Given the description of an element on the screen output the (x, y) to click on. 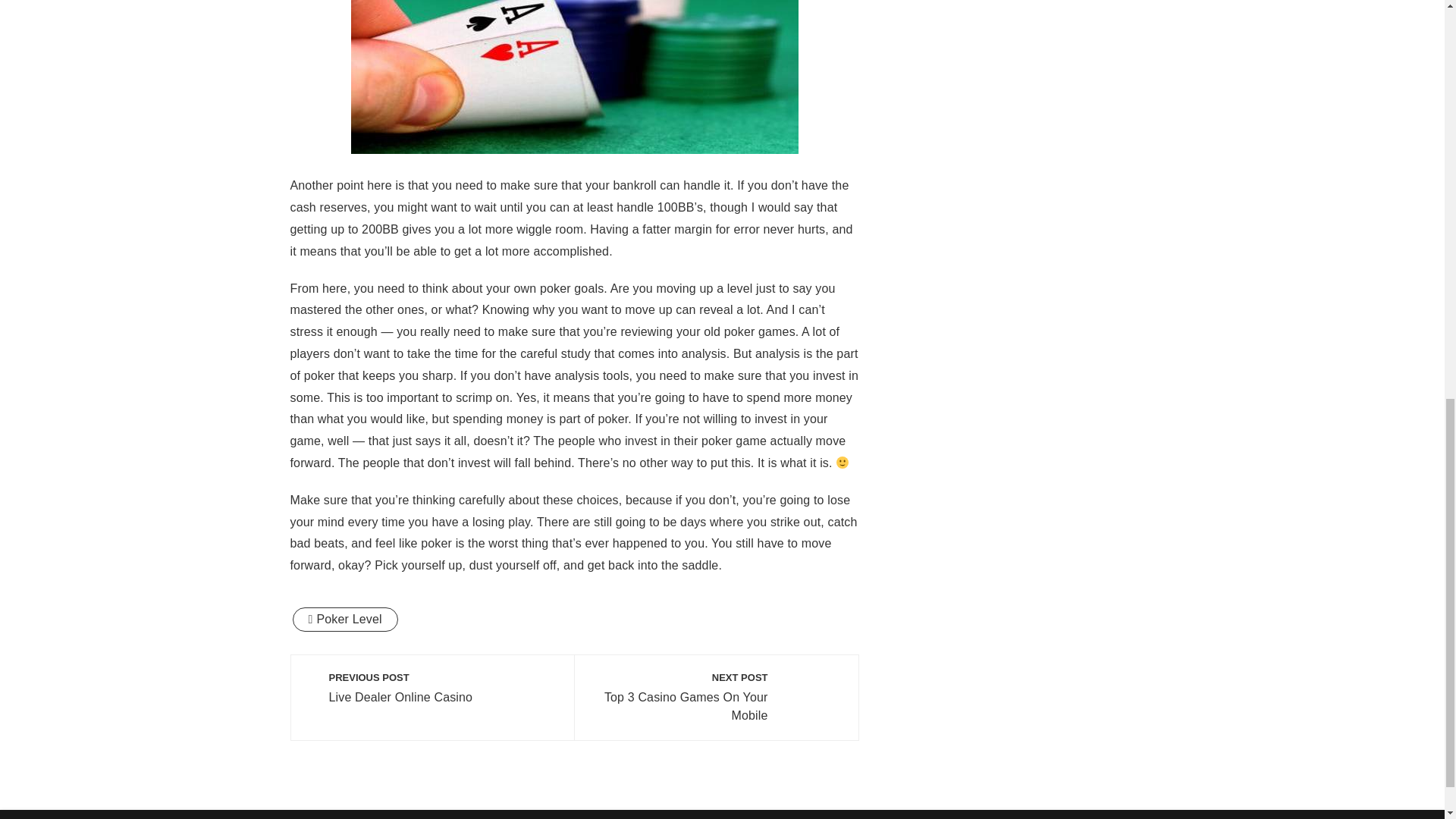
Poker Level (344, 619)
